Given the description of an element on the screen output the (x, y) to click on. 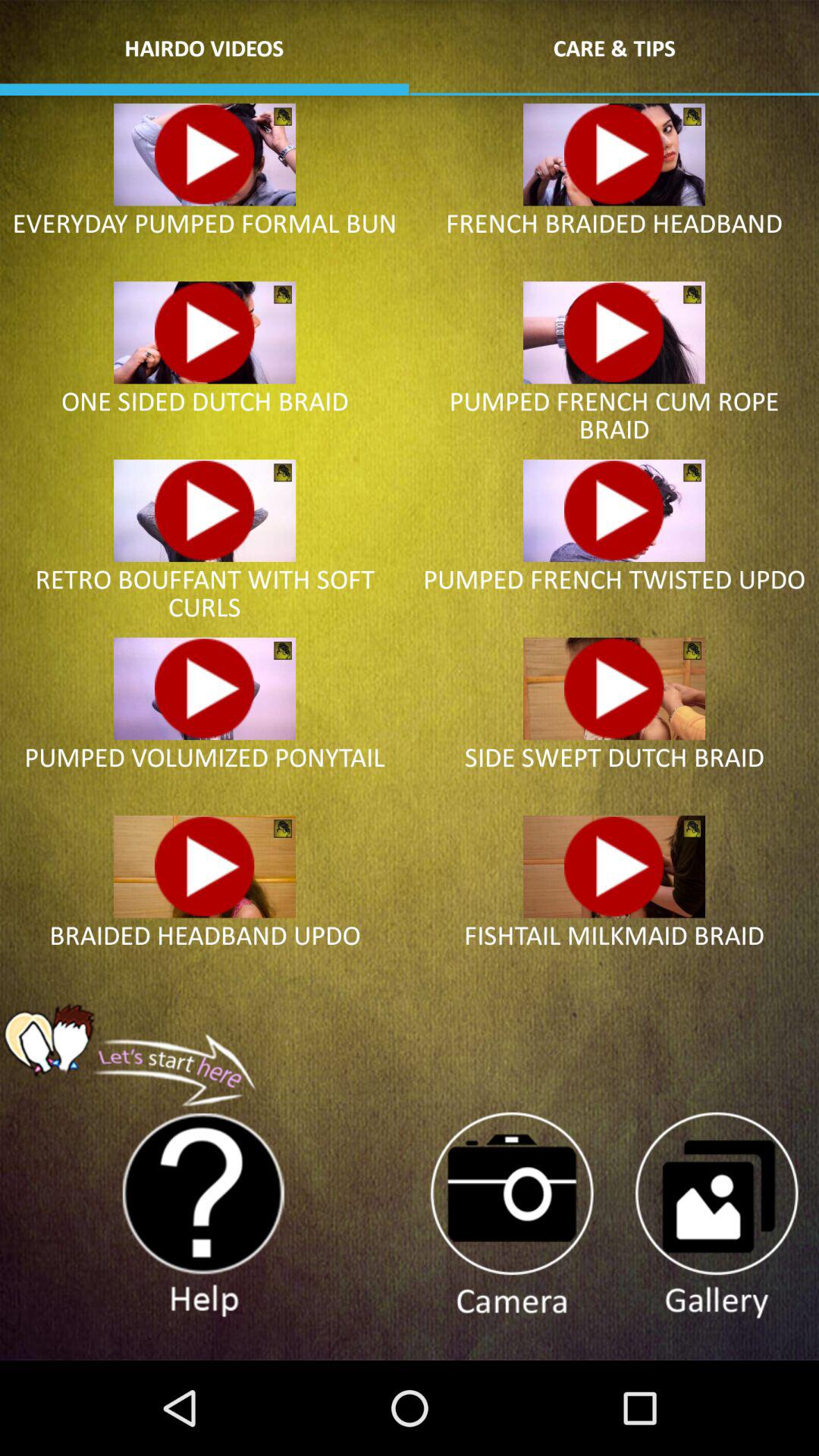
go to gallery (716, 1215)
